Given the description of an element on the screen output the (x, y) to click on. 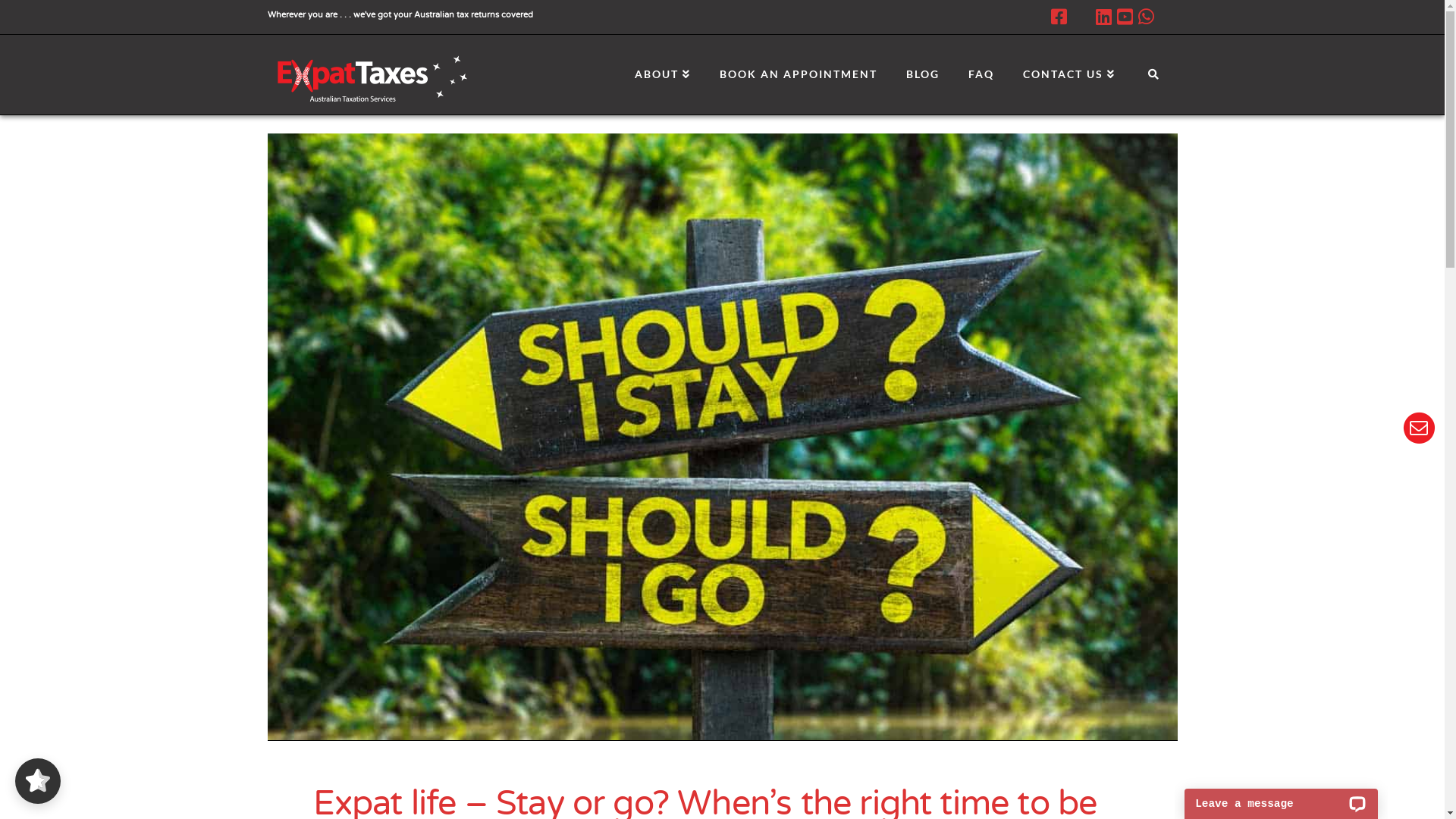
Facebook Element type: hover (1058, 16)
BOOK AN APPOINTMENT Element type: text (797, 68)
RSS Element type: hover (1167, 16)
YouTube Element type: hover (1124, 16)
Whatsapp Element type: hover (1145, 16)
FAQ Element type: text (980, 68)
ABOUT Element type: text (661, 68)
CONTACT US Element type: text (1068, 68)
Back to Top Element type: hover (1423, 797)
BLOG Element type: text (922, 68)
X / Twitter Element type: hover (1081, 16)
LinkedIn Element type: hover (1102, 16)
